Given the description of an element on the screen output the (x, y) to click on. 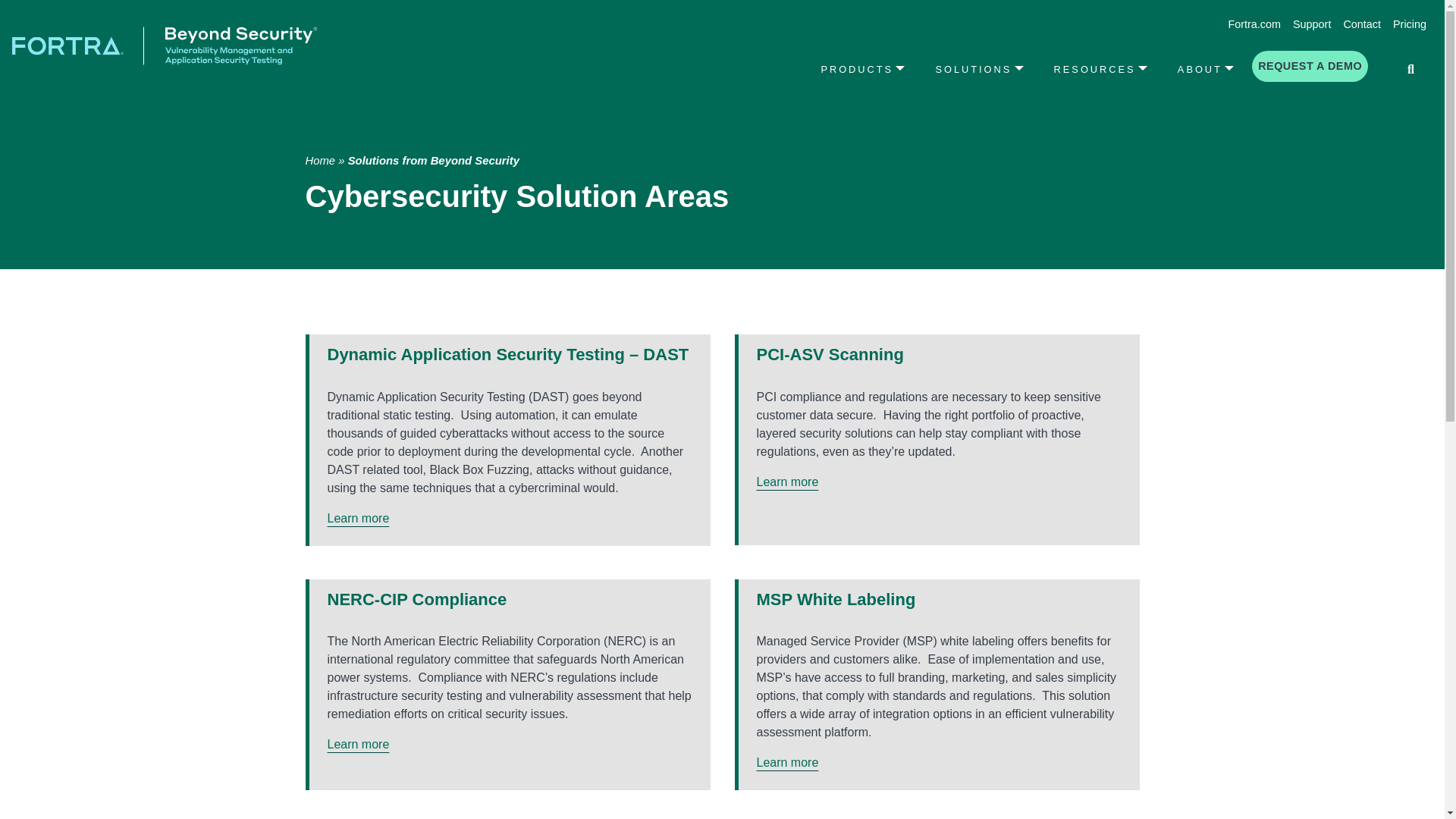
Contact (1361, 24)
Fortra.com (1254, 24)
Fortra.com (1254, 24)
PRODUCTS (862, 68)
Support (1311, 24)
Products (862, 68)
REQUEST A DEMO (1310, 66)
ABOUT (1206, 68)
SOLUTIONS (979, 68)
Support (1311, 24)
Contact (1361, 24)
Pricing (1409, 24)
Pricing (1409, 24)
Home (319, 160)
RESOURCES (1100, 68)
